Given the description of an element on the screen output the (x, y) to click on. 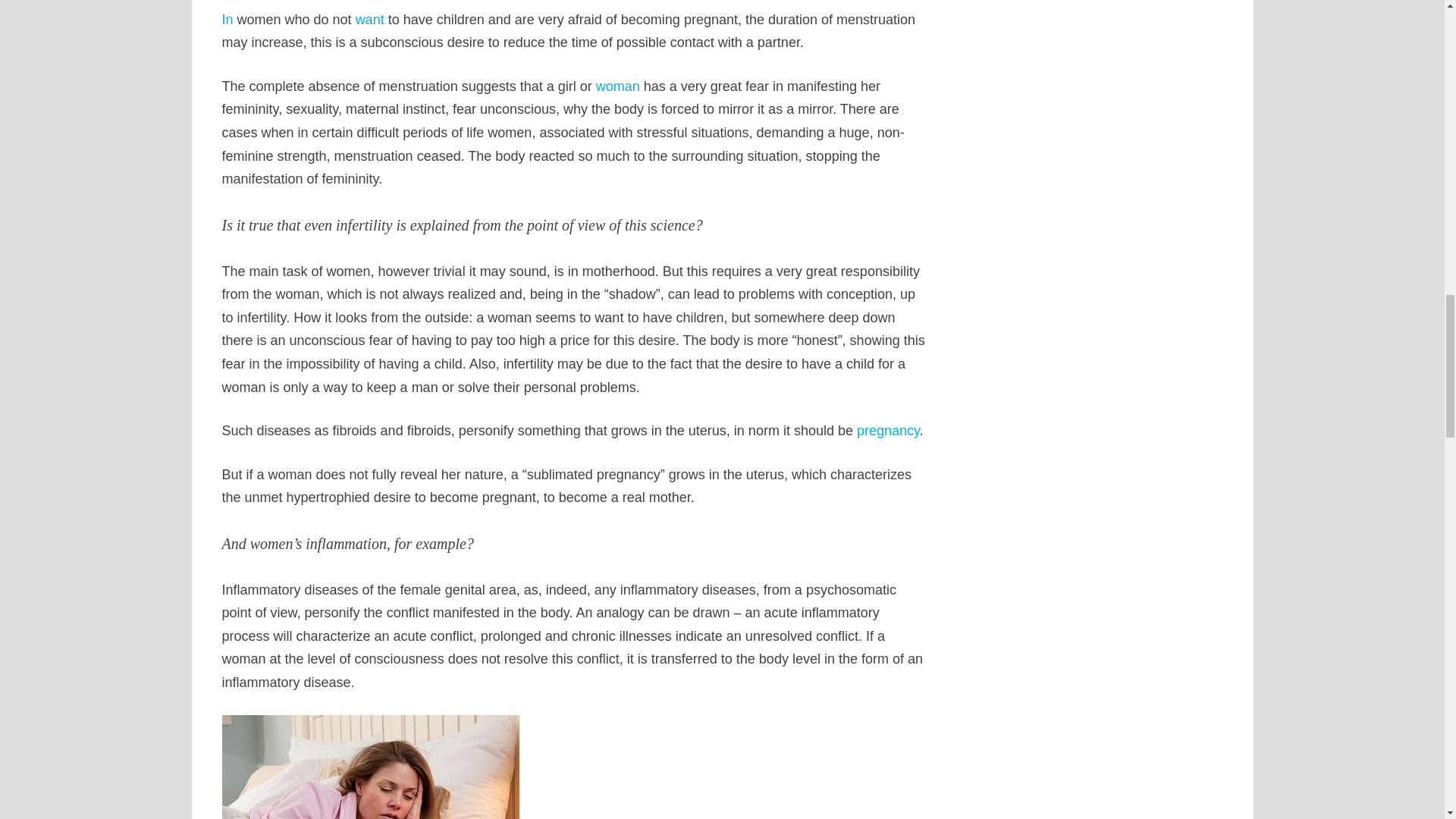
woman (617, 86)
pregnancy (888, 430)
want (369, 19)
